Given the description of an element on the screen output the (x, y) to click on. 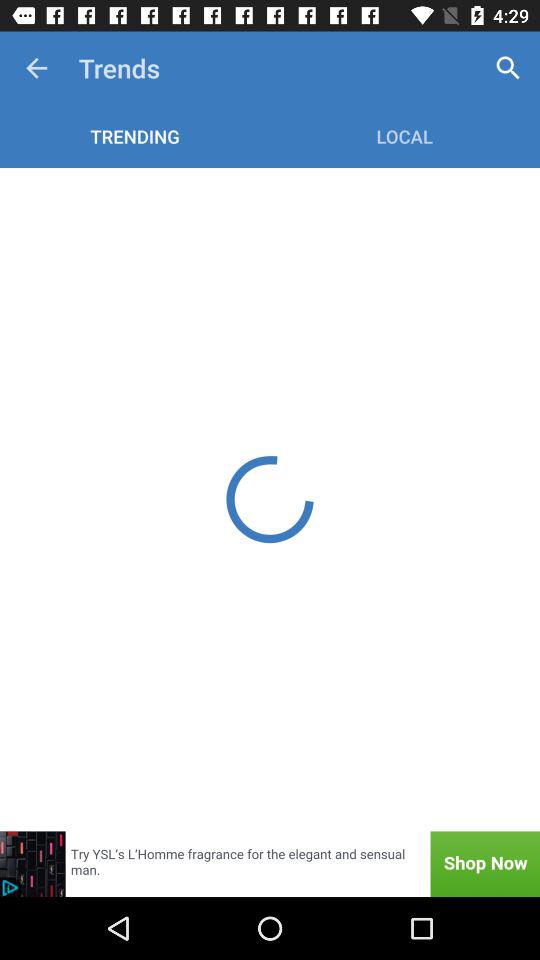
advertisement to shop (270, 864)
